Given the description of an element on the screen output the (x, y) to click on. 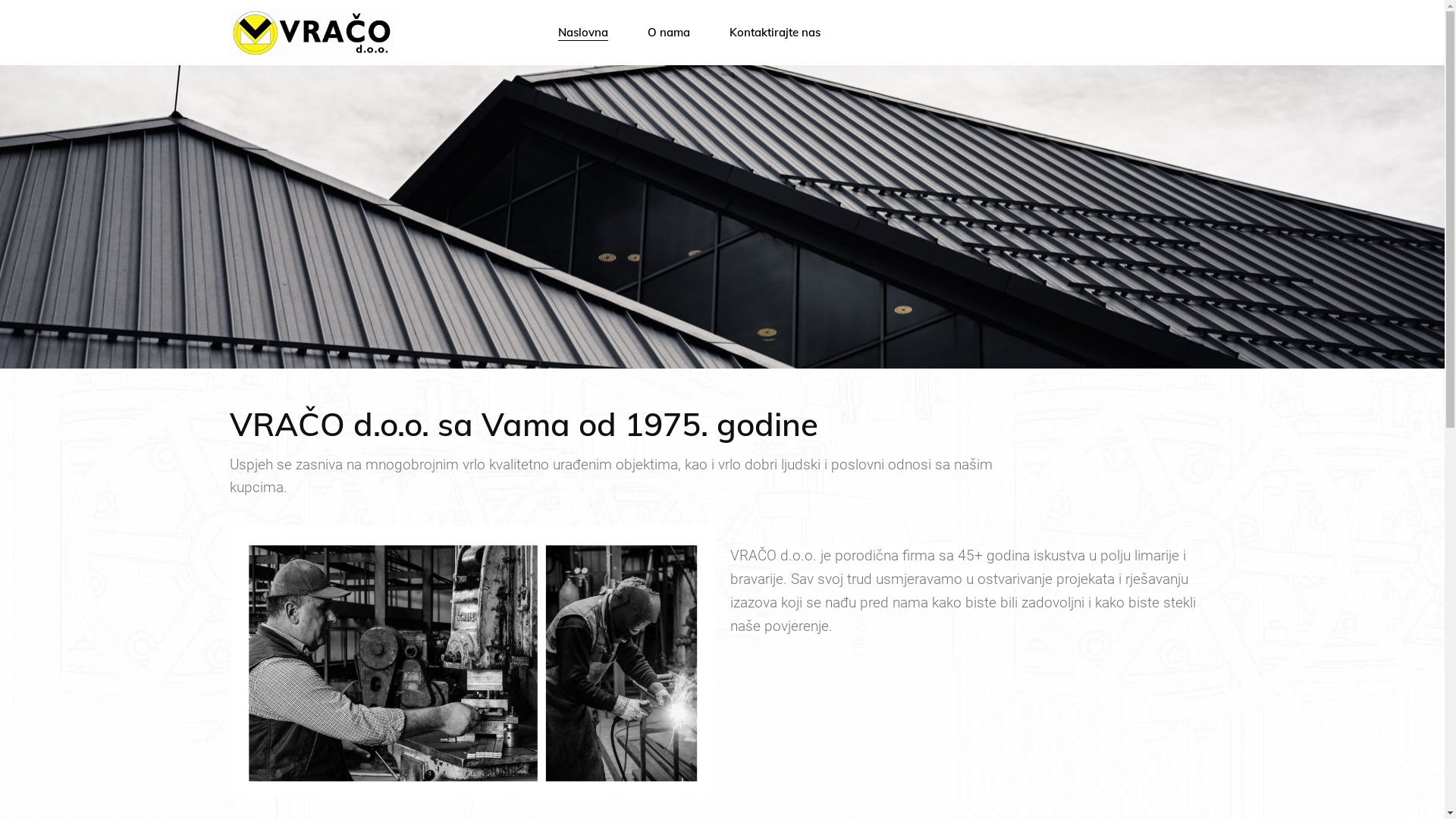
Kontaktirajte nas Element type: text (774, 32)
Naslovna Element type: text (583, 32)
O nama Element type: text (668, 32)
